Given the description of an element on the screen output the (x, y) to click on. 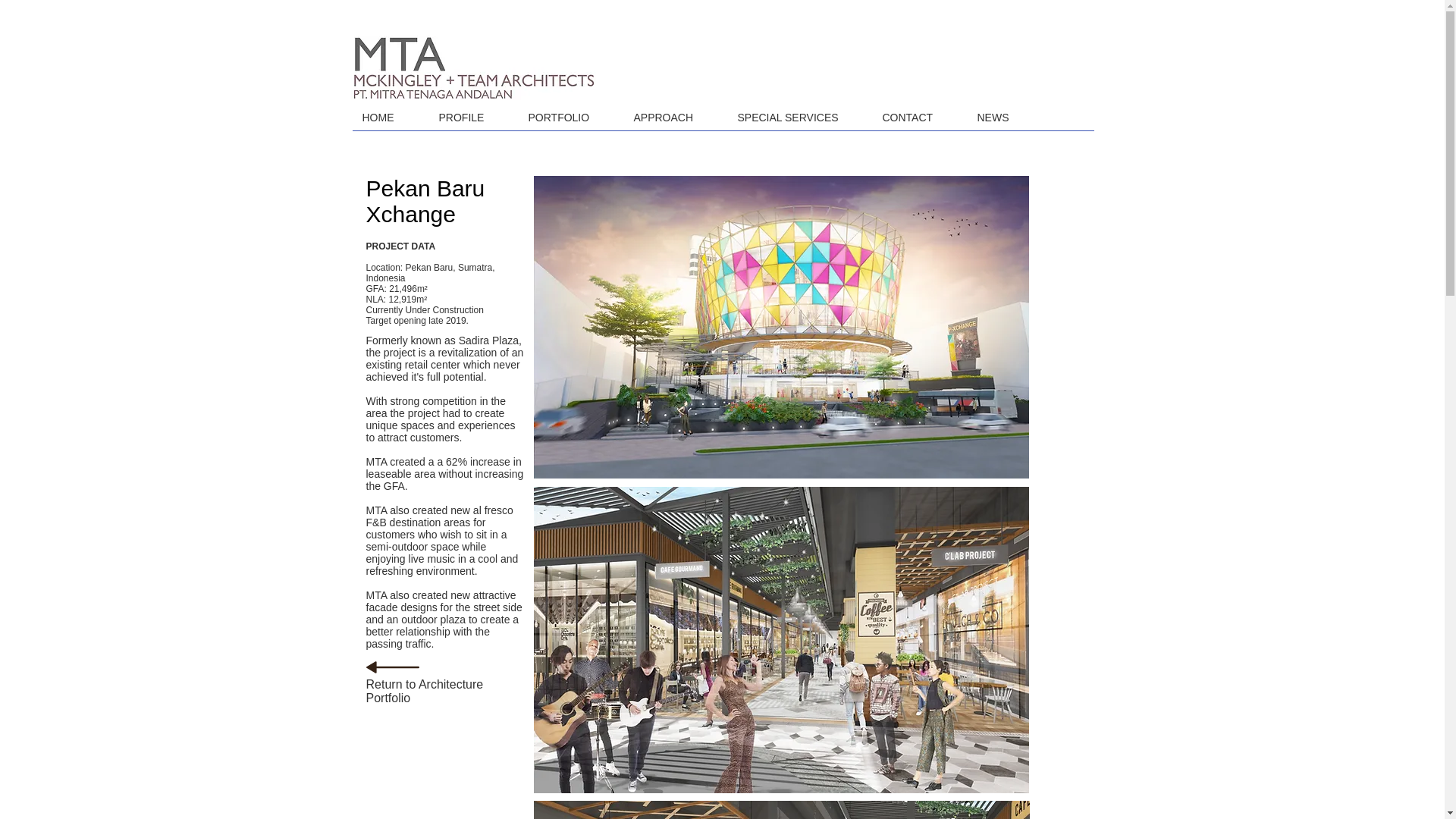
Return to Architecture Portfolio (424, 691)
PROFILE (472, 117)
CONTACT (917, 117)
NEWS (1004, 117)
PORTFOLIO (569, 117)
HOME (388, 117)
SPECIAL SERVICES (798, 117)
APPROACH (673, 117)
Home (472, 67)
